Given the description of an element on the screen output the (x, y) to click on. 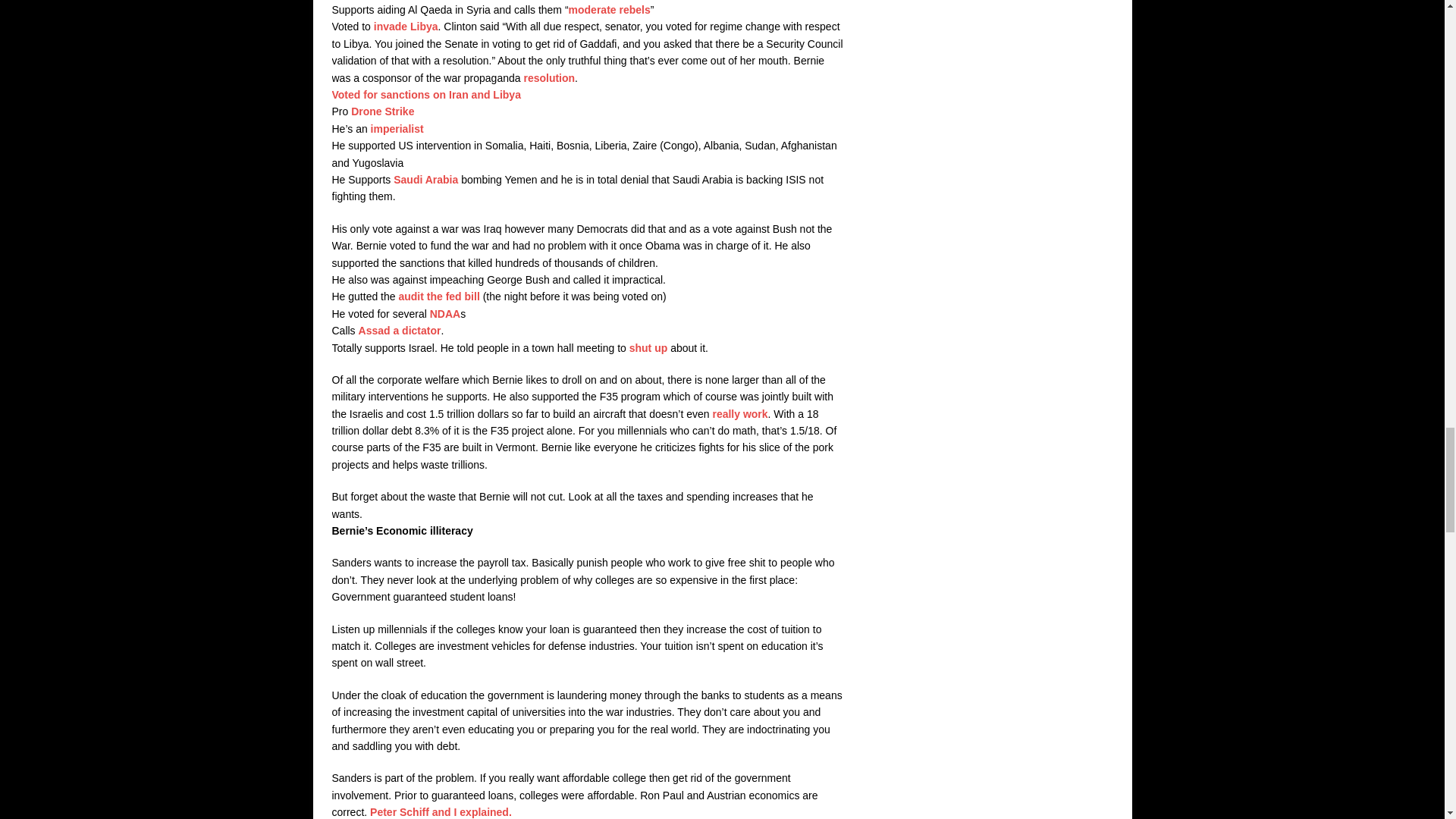
Assad a dictator (399, 330)
resolution (548, 78)
invade Libya (406, 26)
shut up (648, 347)
moderate rebels (609, 9)
NDAA (444, 313)
Voted for sanctions on Iran and Libya (426, 94)
Drone Strike (381, 111)
Peter Schiff and I explained. (440, 811)
audit the fed bill (438, 296)
Saudi Arabia (424, 179)
imperialist (397, 128)
really work (739, 413)
